Given the description of an element on the screen output the (x, y) to click on. 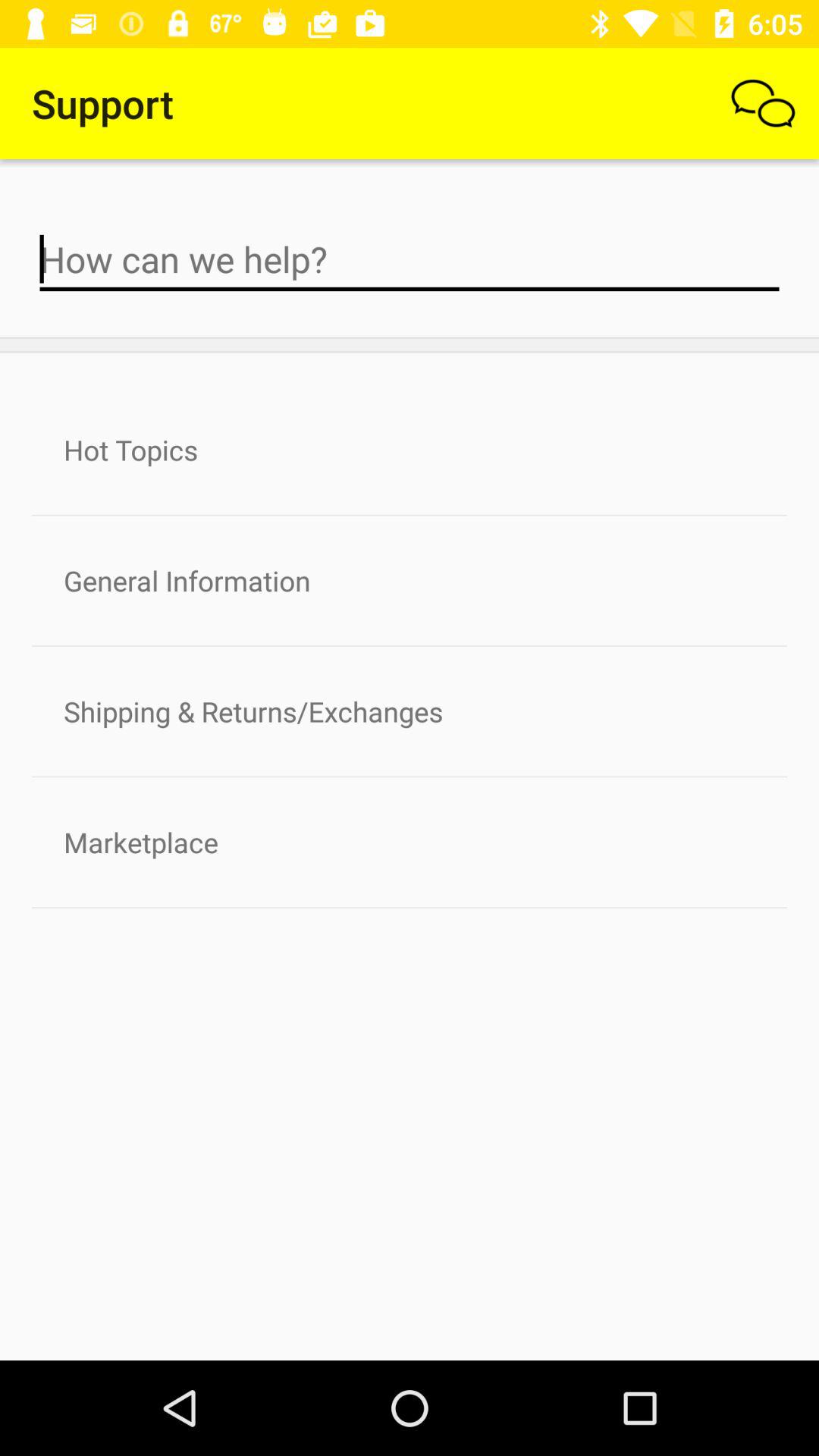
choose item below the hot topics icon (409, 580)
